Given the description of an element on the screen output the (x, y) to click on. 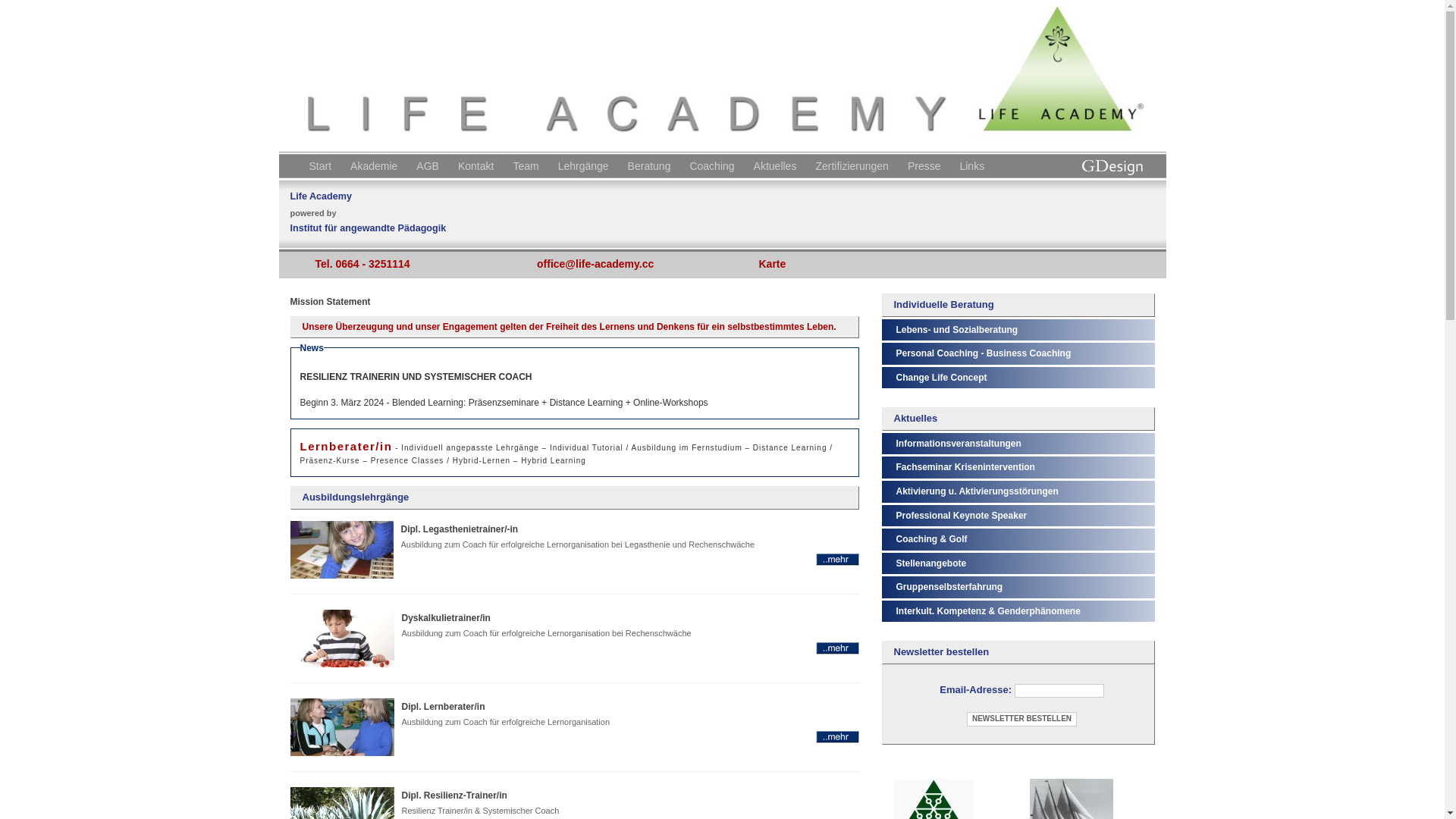
Dyskalkulietrainer/in Element type: hover (837, 647)
Personal Coaching - Business Coaching Element type: text (983, 353)
Tel. 0664 - 3251114 Element type: text (363, 263)
Professional Keynote Speaker Element type: text (961, 515)
Aktuelles Element type: text (777, 163)
Presse Element type: text (926, 163)
Dipl. Legasthenietrainer/-in Element type: hover (837, 558)
NEWSLETTER BESTELLEN Element type: text (1021, 718)
Informationsveranstaltungen Element type: text (958, 443)
Lebens- und Sozialberatung Element type: text (957, 329)
Kontakt Element type: text (477, 163)
Gruppenselbsterfahrung Element type: text (949, 586)
Links Element type: text (973, 163)
Stellenangebote Element type: text (931, 563)
Beratung Element type: text (651, 163)
Dipl. Legasthenietrainer/-in Element type: text (458, 528)
Dyskalkulietrainer/in Element type: text (445, 617)
Start Element type: text (322, 163)
Team Element type: text (527, 163)
AGB Element type: text (429, 163)
Coaching Element type: text (713, 163)
Zertifizierungen Element type: text (853, 163)
Karte Element type: text (774, 263)
Dipl. Resilienz-Trainer/in Element type: text (454, 794)
Dipl. Lernberater/in Element type: text (443, 705)
office@life-academy.cc Element type: text (596, 263)
Akademie Element type: text (375, 163)
Fachseminar Krisenintervention Element type: text (965, 466)
Dipl. Lernberater/in Element type: hover (837, 736)
Change Life Concept Element type: text (941, 377)
Coaching & Golf Element type: text (931, 538)
